Given the description of an element on the screen output the (x, y) to click on. 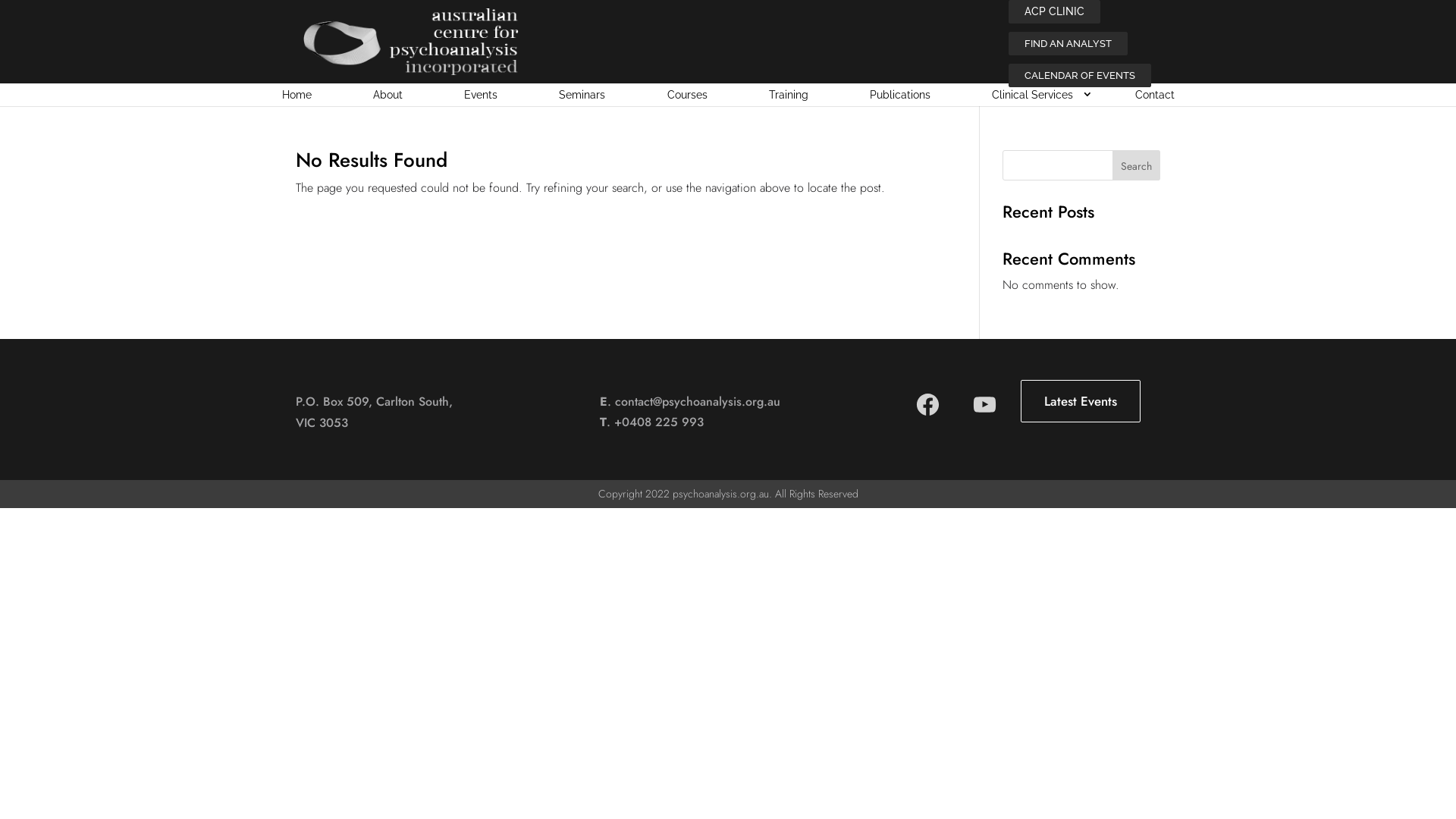
FIND AN ANALYST Element type: text (1067, 43)
contact@psychoanalysis.org.au Element type: text (697, 401)
Contact Element type: text (1154, 94)
About Element type: text (387, 94)
Events Element type: text (480, 94)
CALENDAR OF EVENTS Element type: text (1079, 75)
ACP CLINIC Element type: text (1054, 11)
Training Element type: text (787, 94)
Publications Element type: text (899, 94)
Search Element type: text (1136, 165)
Latest Events Element type: text (1080, 400)
Facebook Element type: text (927, 413)
Courses Element type: text (686, 94)
+0408 225 993 Element type: text (658, 421)
Seminars Element type: text (582, 94)
YouTube Element type: text (984, 413)
Clinical Services Element type: text (1032, 94)
Home Element type: text (296, 94)
